Given the description of an element on the screen output the (x, y) to click on. 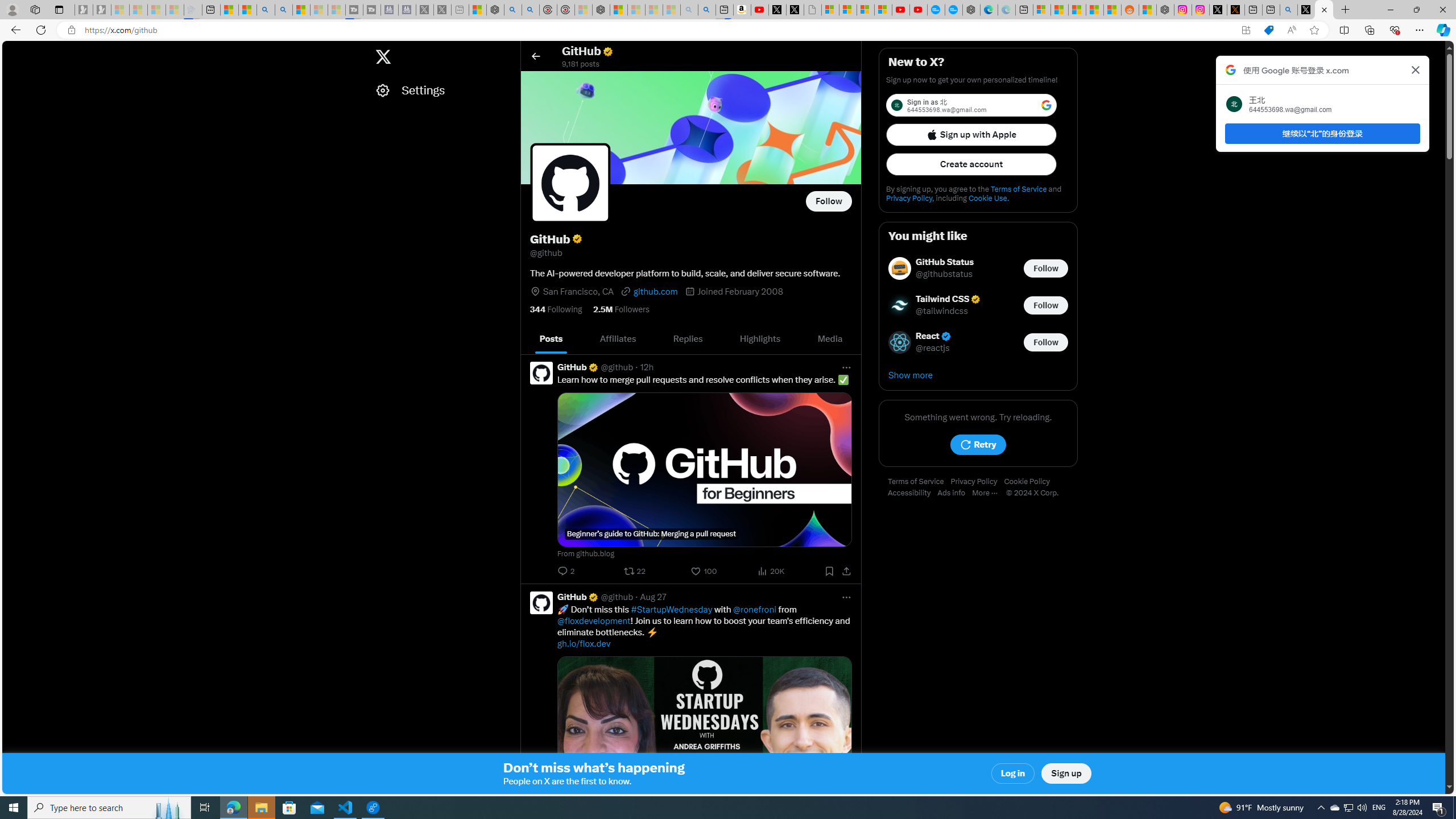
Next (848, 338)
Square profile picture and Opens profile photo (570, 182)
From github.blog (704, 554)
Shanghai, China hourly forecast | Microsoft Weather (1076, 9)
React Verified account (933, 336)
Posts (551, 338)
amazon - Search - Sleeping (689, 9)
Skip to trending (12, 50)
Class: Bz112c Bz112c-r9oPif (1415, 69)
@reactjs (932, 348)
